Given the description of an element on the screen output the (x, y) to click on. 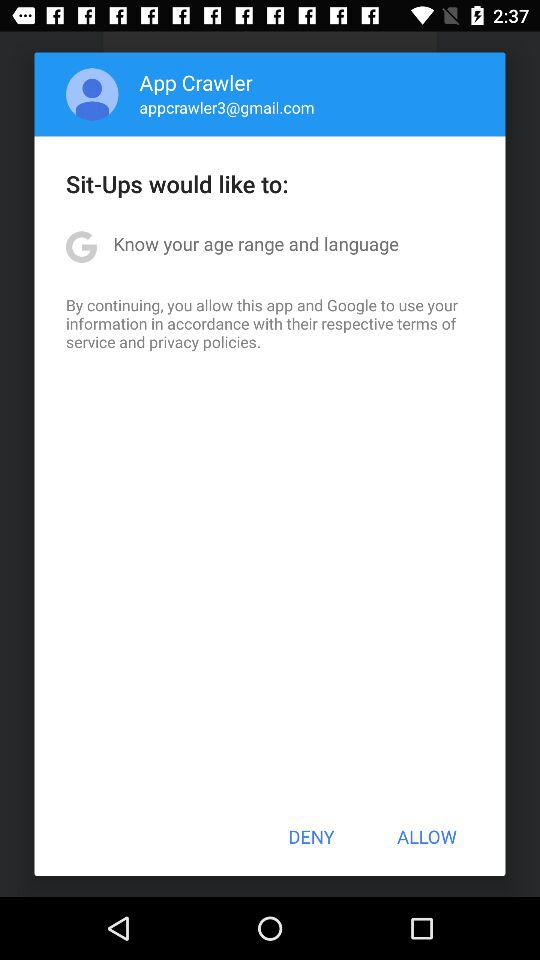
launch item above the sit ups would app (92, 94)
